Given the description of an element on the screen output the (x, y) to click on. 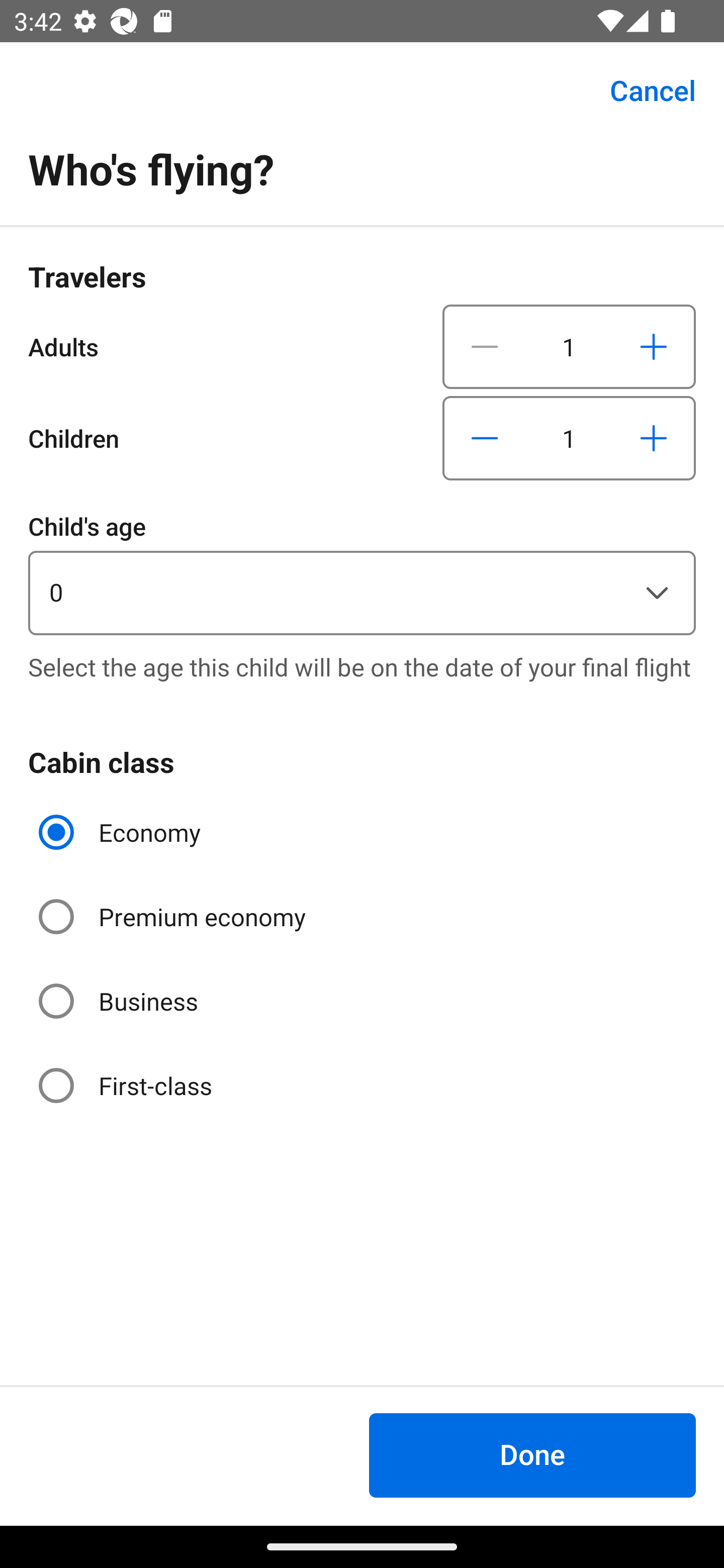
Cancel (641, 90)
Decrease (484, 346)
Increase (653, 346)
Decrease (484, 437)
Increase (653, 437)
Child's age
 Child's age 0 (361, 571)
Economy (121, 832)
Premium economy (174, 916)
Business (120, 1000)
First-class (126, 1084)
Done (532, 1454)
